Given the description of an element on the screen output the (x, y) to click on. 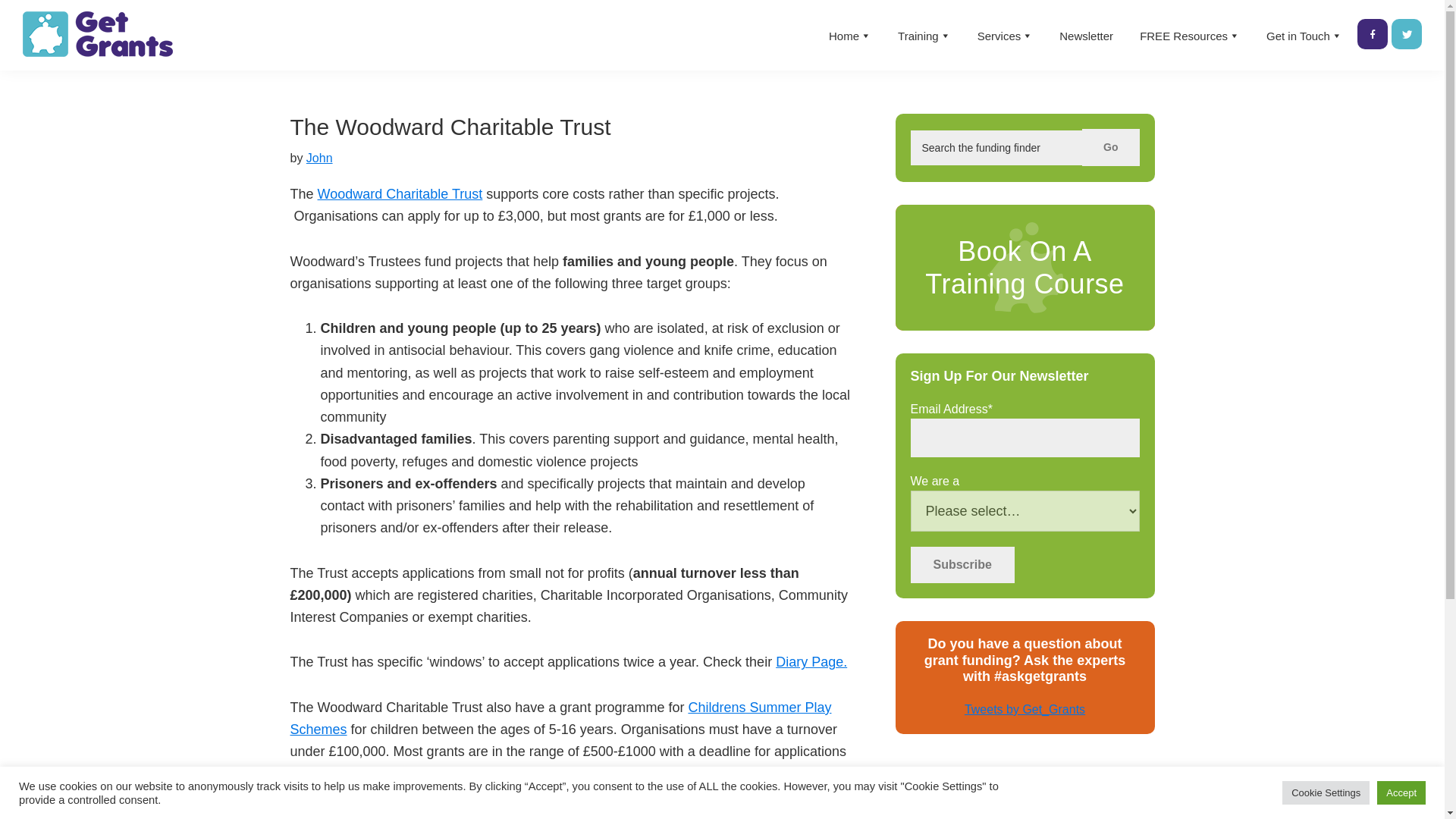
Get Grants (47, 71)
Go (1110, 146)
Home (849, 35)
Go (1110, 146)
Training (924, 35)
Subscribe (961, 565)
